Given the description of an element on the screen output the (x, y) to click on. 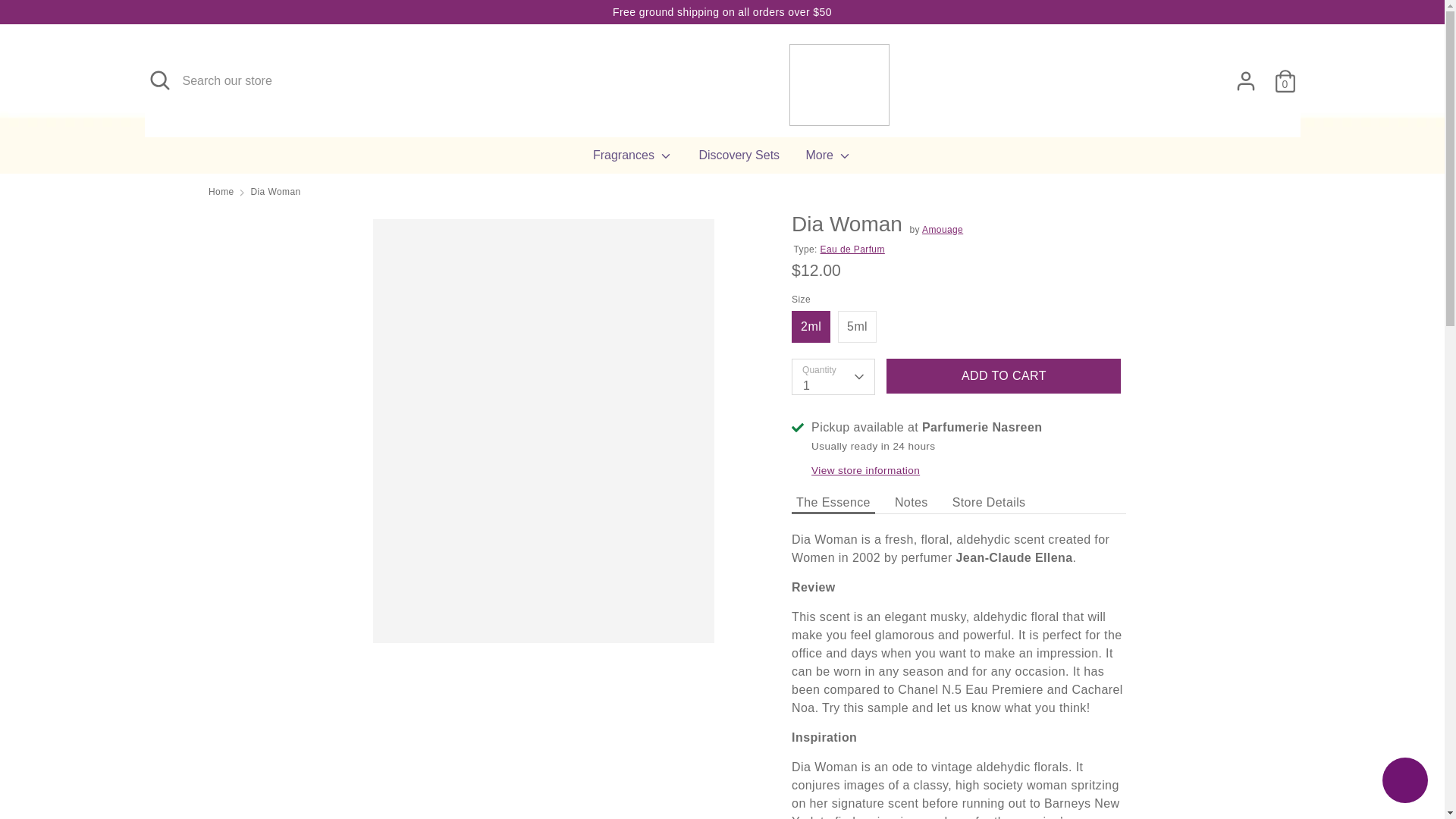
Discovery Sets (738, 159)
Shopify online store chat (1404, 781)
More (828, 159)
0 (1284, 74)
Fragrances (632, 159)
1 (833, 377)
